Given the description of an element on the screen output the (x, y) to click on. 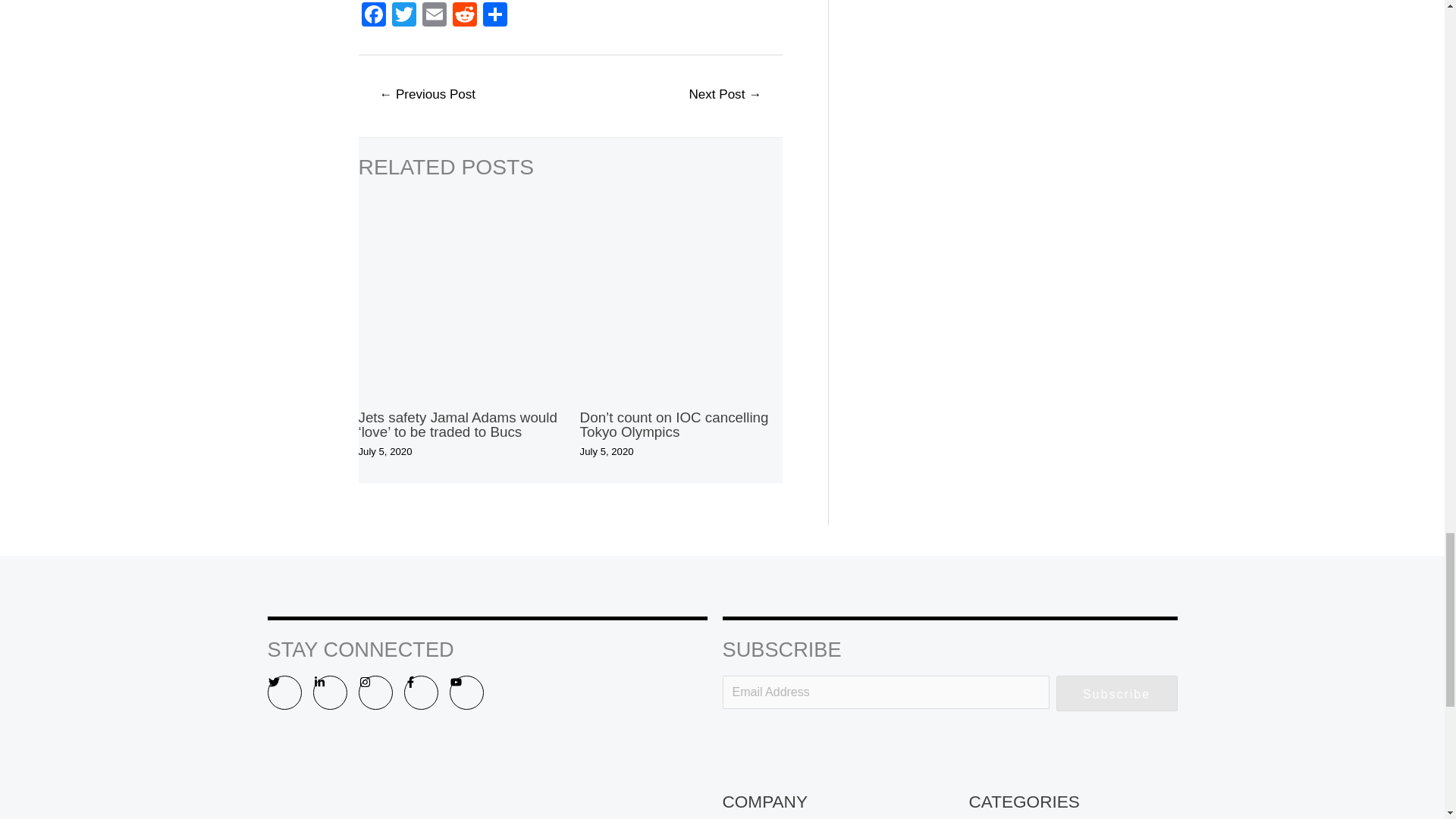
Twitter (403, 16)
Email (433, 16)
Reddit (463, 16)
Facebook (373, 16)
Twitter (403, 16)
Email (433, 16)
Reddit (463, 16)
Facebook (373, 16)
